Given the description of an element on the screen output the (x, y) to click on. 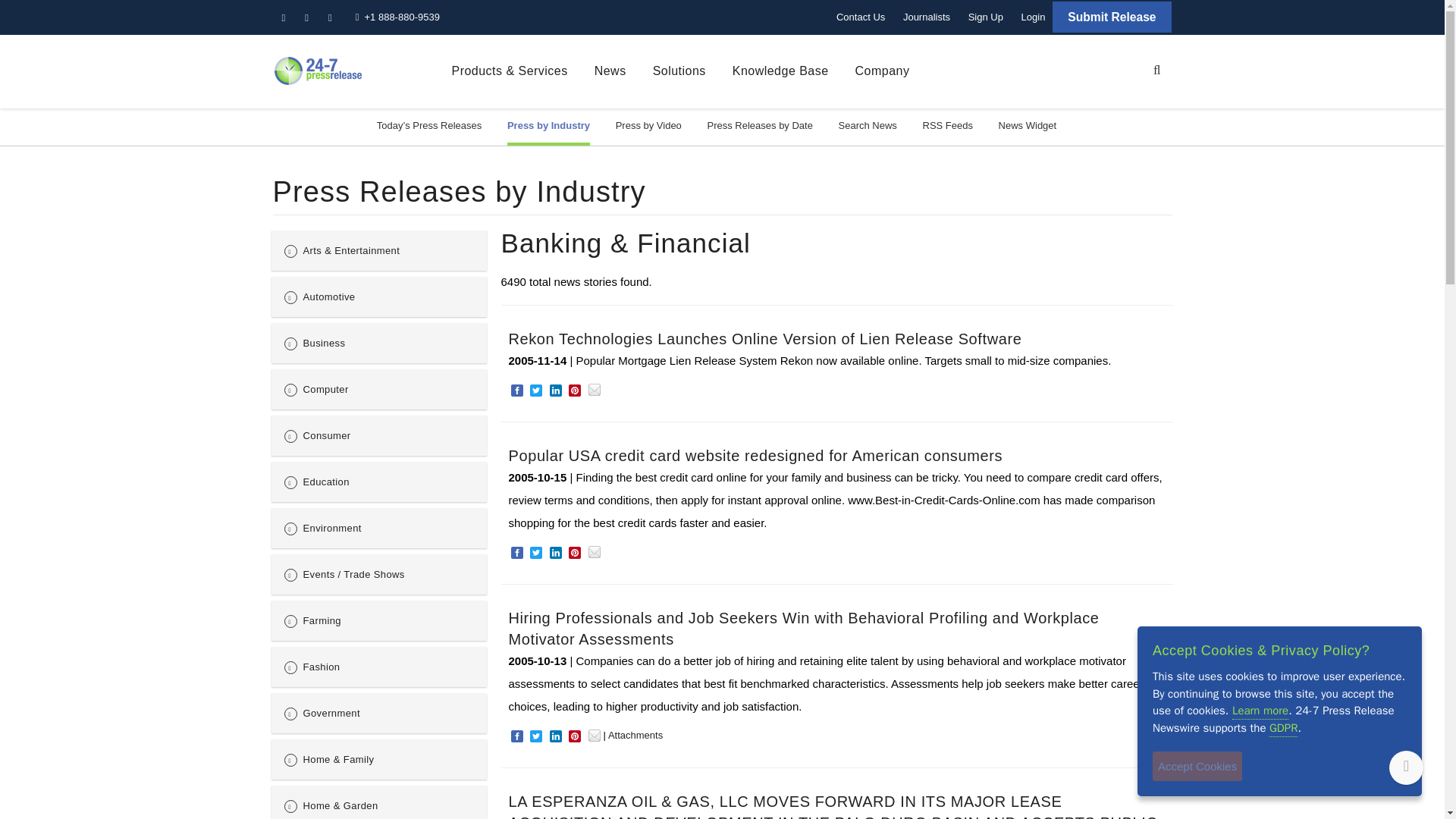
Journalists (926, 16)
Company (882, 71)
Knowledge Base (780, 71)
Contact Us (860, 16)
Login (1032, 16)
Submit Release (1111, 16)
Solutions (679, 71)
Sign Up (985, 16)
